Given the description of an element on the screen output the (x, y) to click on. 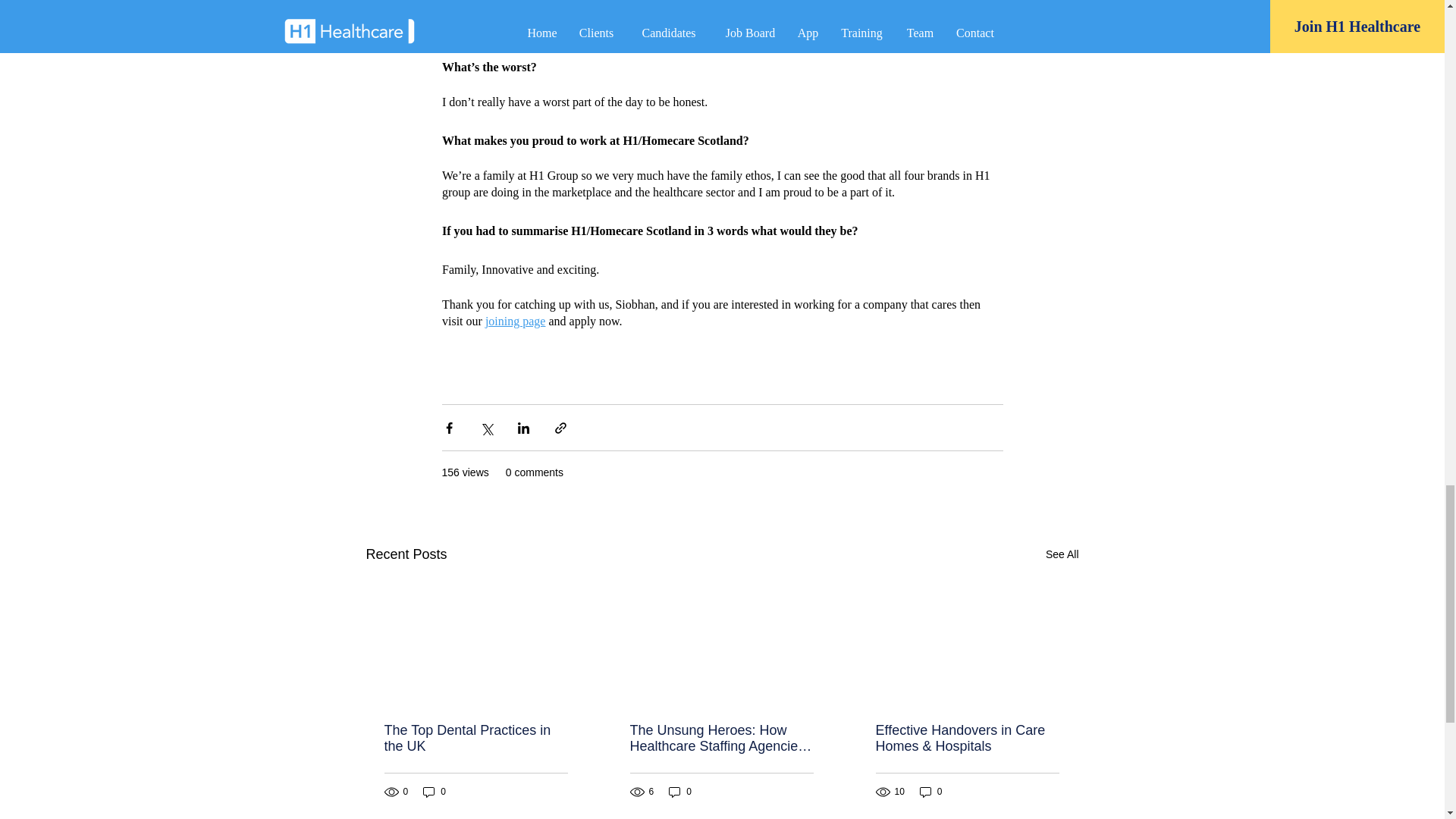
0 (930, 791)
0 (679, 791)
See All (1061, 554)
The Top Dental Practices in the UK (475, 738)
0 (434, 791)
joining page (514, 320)
